Given the description of an element on the screen output the (x, y) to click on. 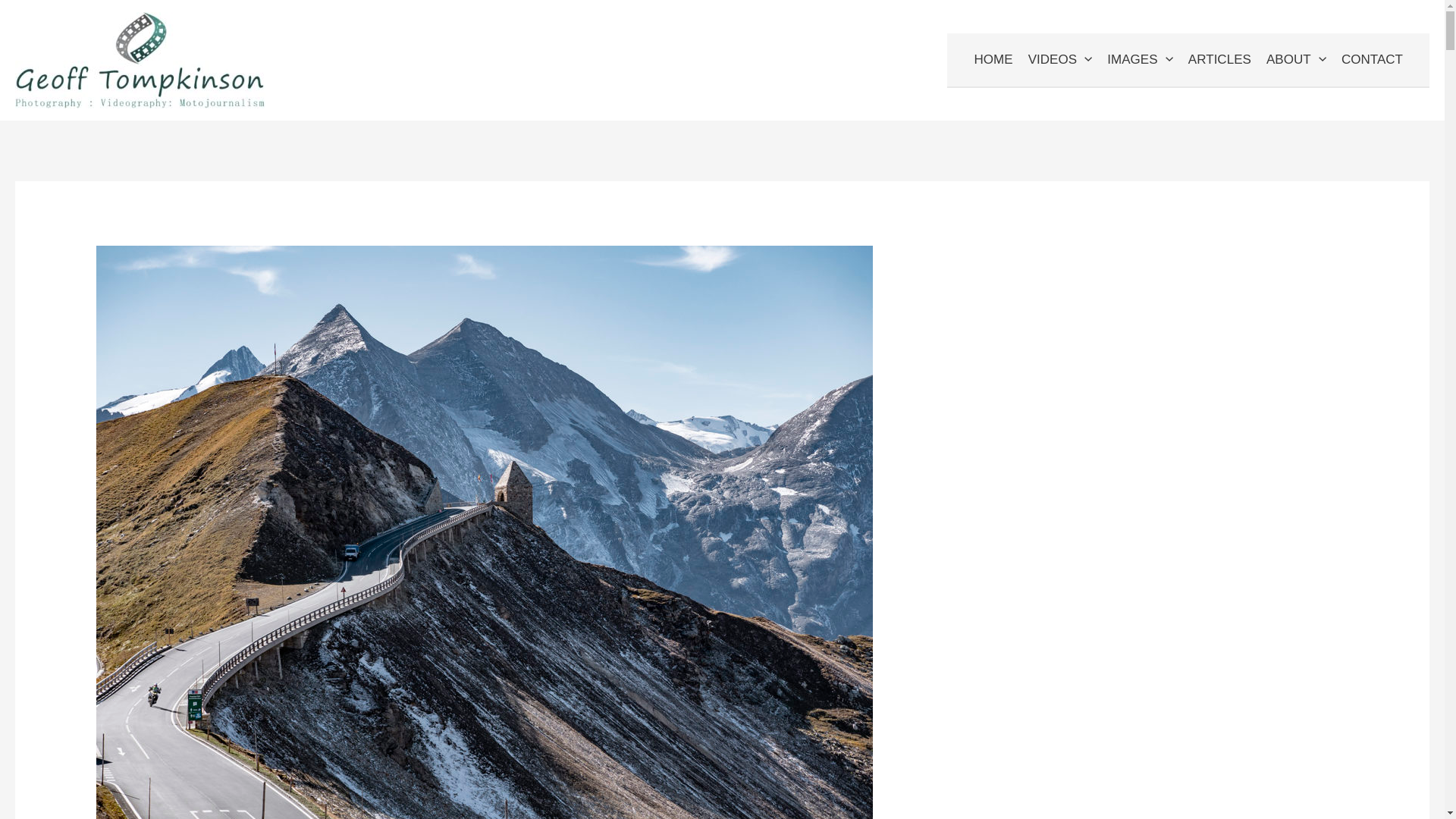
HOME (993, 59)
ARTICLES (1219, 59)
CONTACT (1371, 59)
VIDEOS (1060, 59)
ABOUT (1296, 59)
IMAGES (1139, 59)
